Given the description of an element on the screen output the (x, y) to click on. 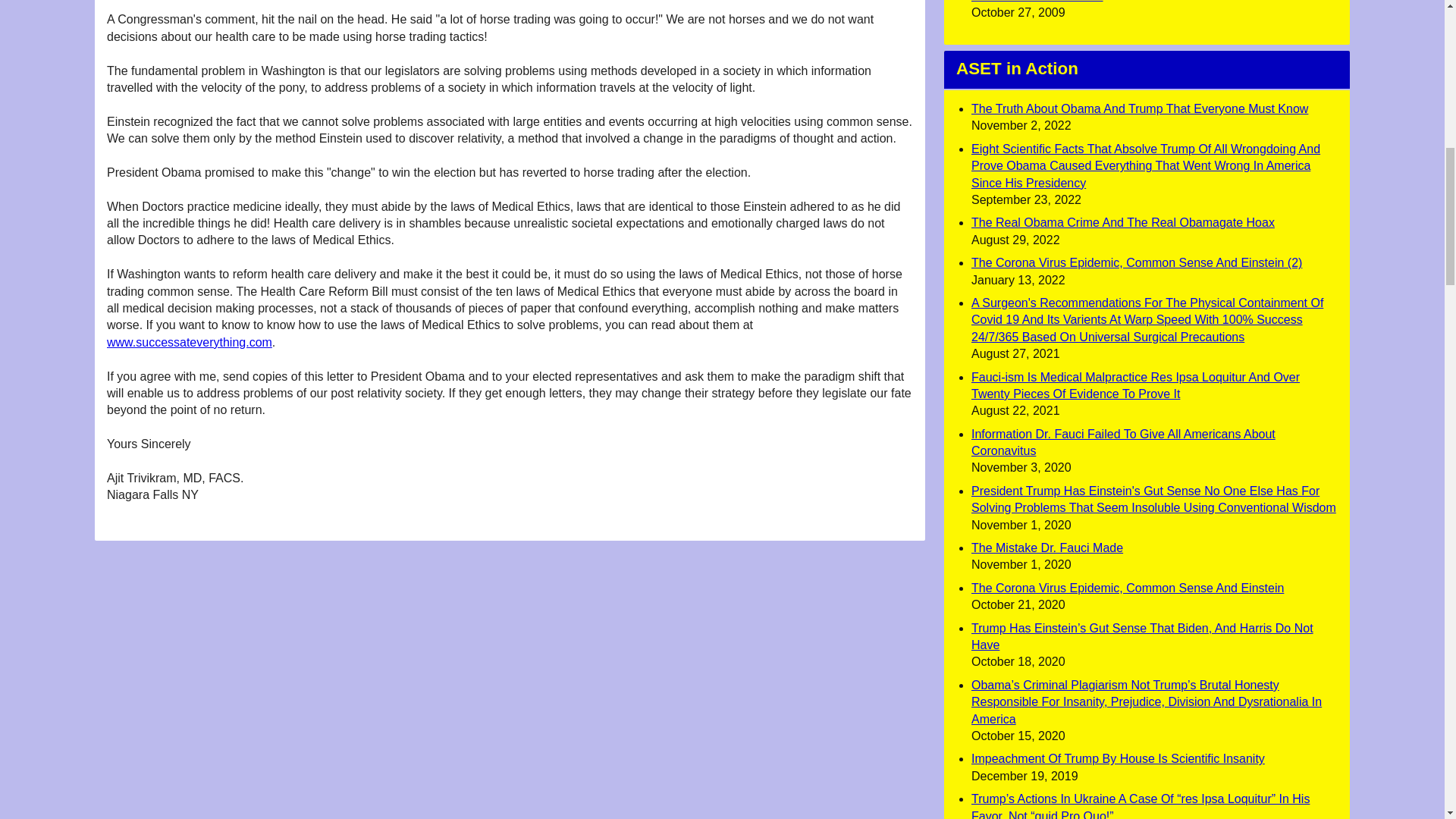
www.successateverything.com (189, 341)
The Truth About Obama And Trump That Everyone Must Know (1139, 108)
Impeachment Of Trump By House Is Scientific Insanity (1118, 758)
Video: Einstein's I-Bomb (1037, 1)
The Real Obama Crime And The Real Obamagate Hoax (1123, 222)
The Mistake Dr. Fauci Made (1046, 547)
The Corona Virus Epidemic, Common Sense And Einstein (1127, 587)
